Given the description of an element on the screen output the (x, y) to click on. 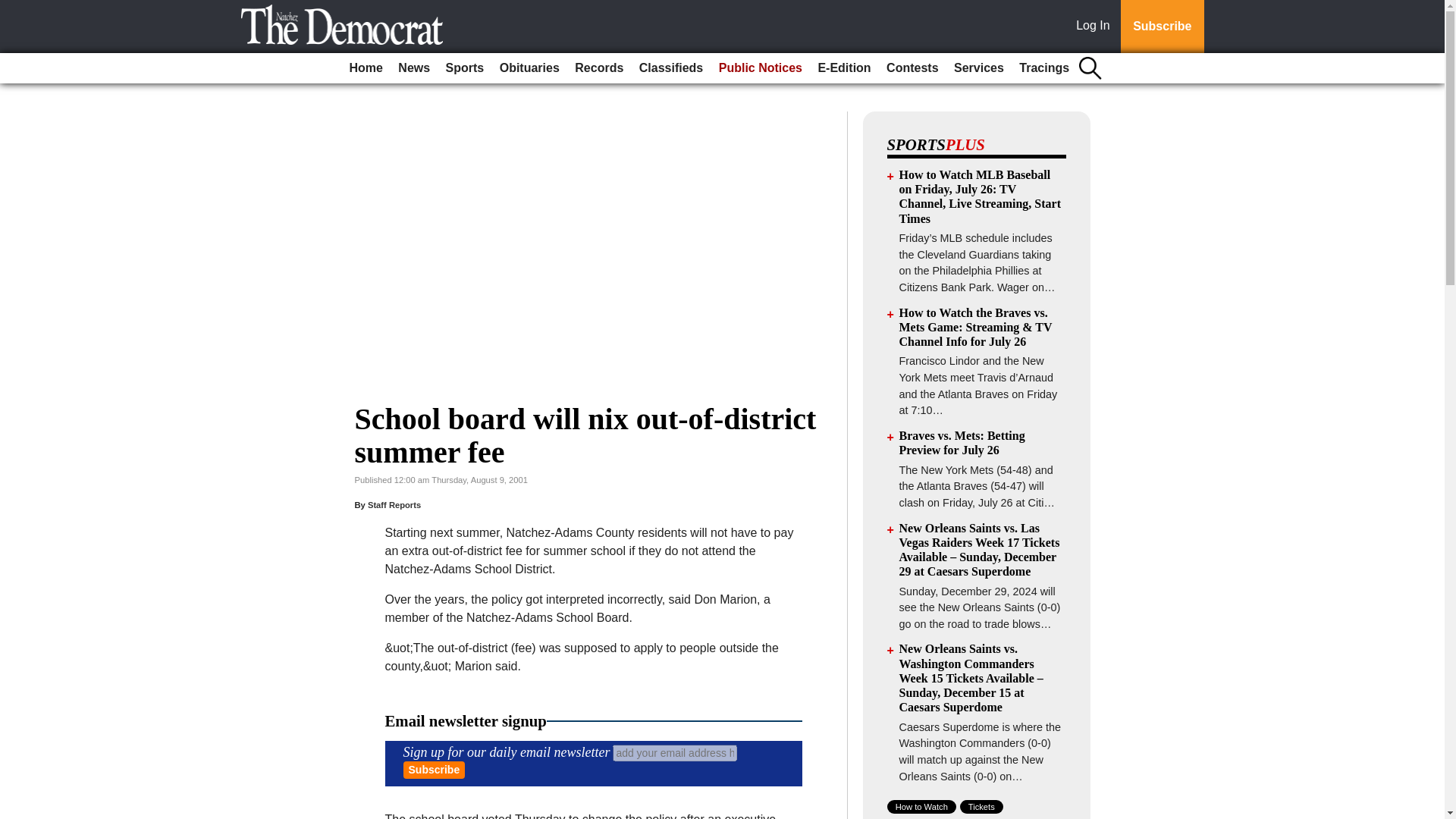
Contests (911, 68)
Go (13, 9)
Sports (464, 68)
Subscribe (434, 769)
Services (978, 68)
Public Notices (760, 68)
Records (598, 68)
Staff Reports (394, 504)
Home (365, 68)
Tracings (1044, 68)
Subscribe (434, 769)
News (413, 68)
Classifieds (671, 68)
Obituaries (529, 68)
